Given the description of an element on the screen output the (x, y) to click on. 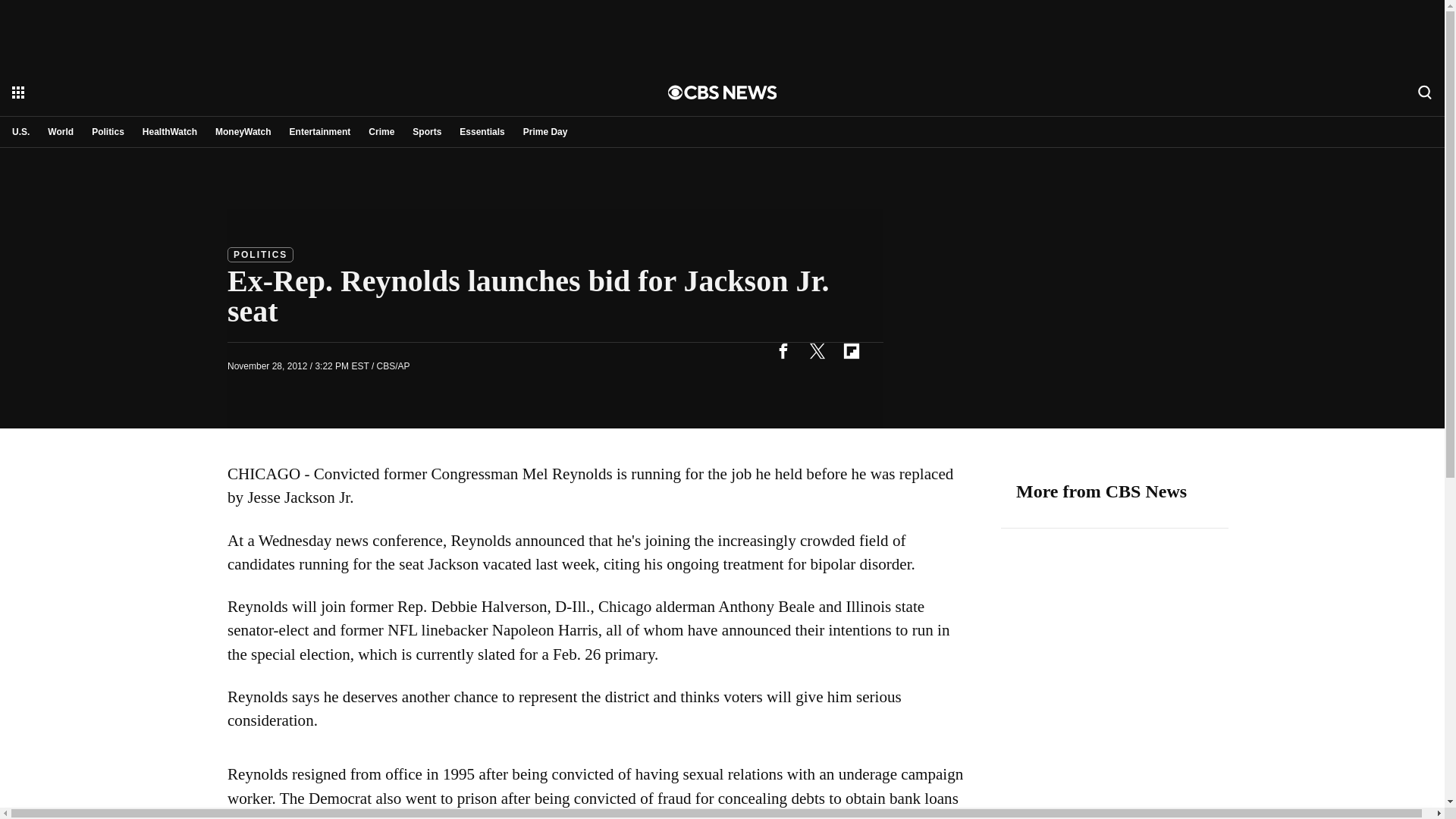
twitter (816, 350)
flipboard (850, 350)
facebook (782, 350)
